Given the description of an element on the screen output the (x, y) to click on. 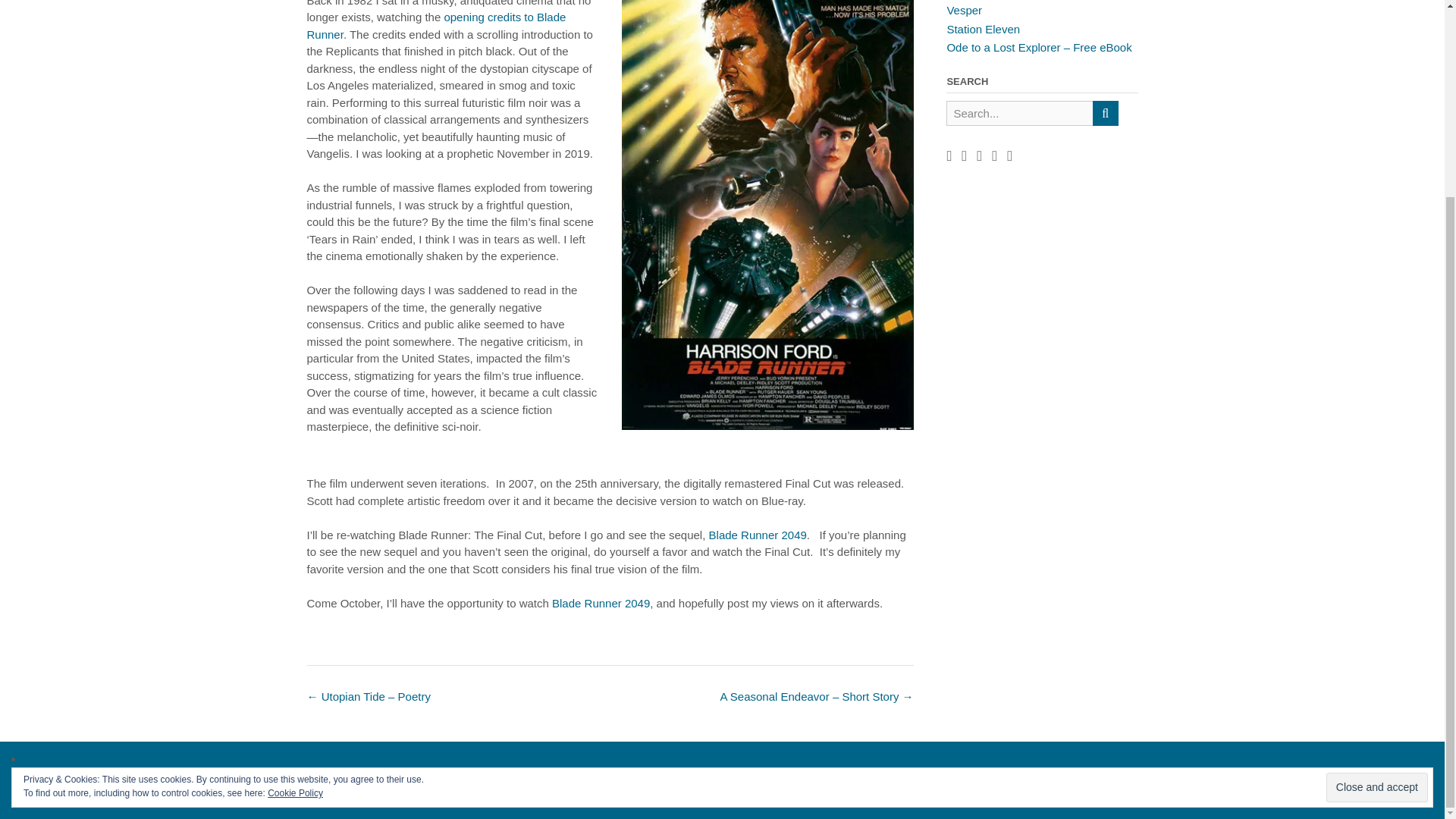
Close and accept (1377, 537)
Blade Runner 2049 (600, 603)
Cookie Policy (295, 543)
opening credits to Blade Runner (435, 25)
Close and accept (1377, 537)
Search for: (1019, 113)
Blade Runner 2049 (757, 534)
Station Eleven (983, 28)
Vesper (963, 10)
